Given the description of an element on the screen output the (x, y) to click on. 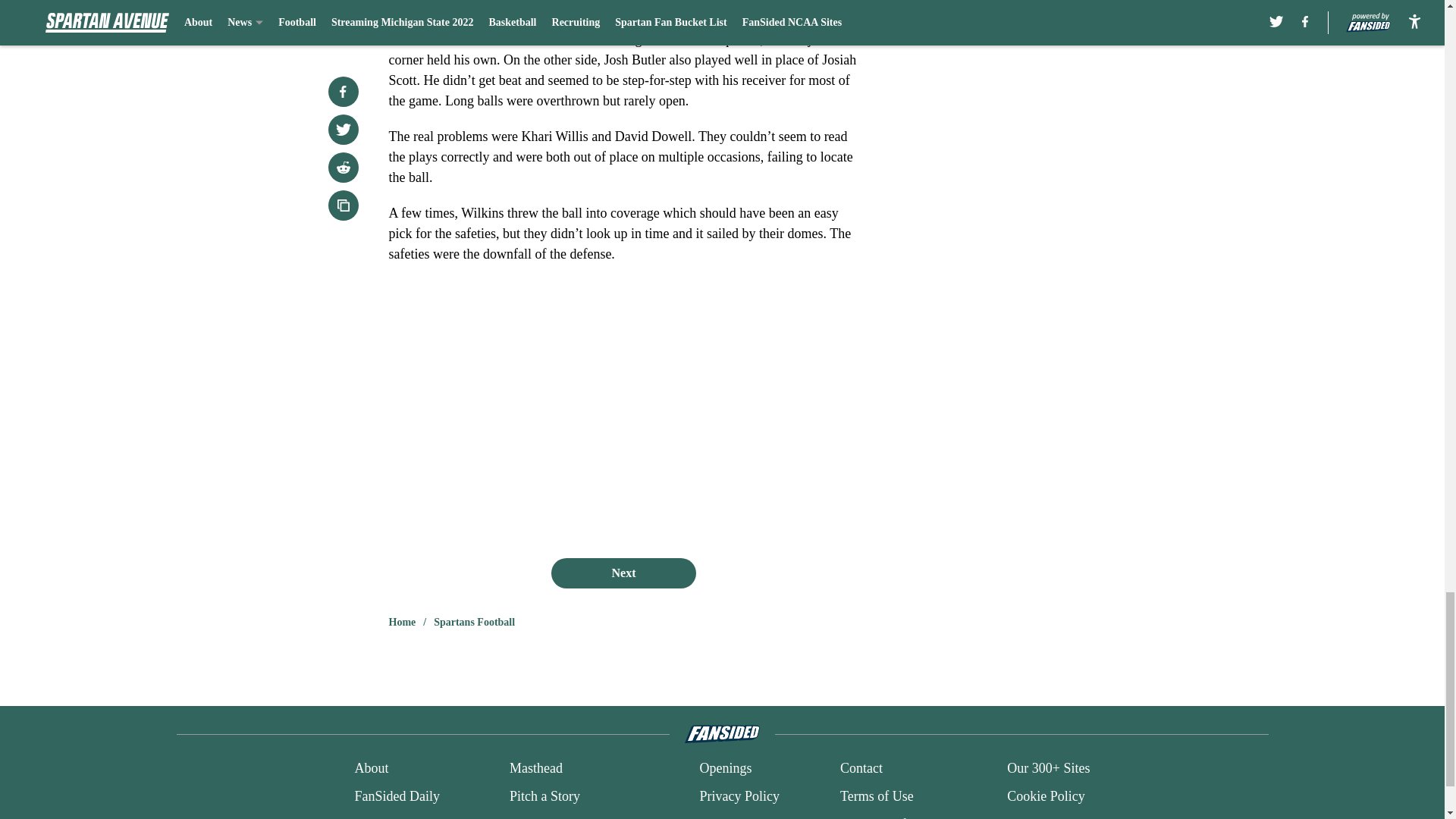
About (370, 768)
Masthead (535, 768)
Spartans Football (474, 622)
Openings (724, 768)
Contact (861, 768)
Home (401, 622)
Next (622, 572)
